Given the description of an element on the screen output the (x, y) to click on. 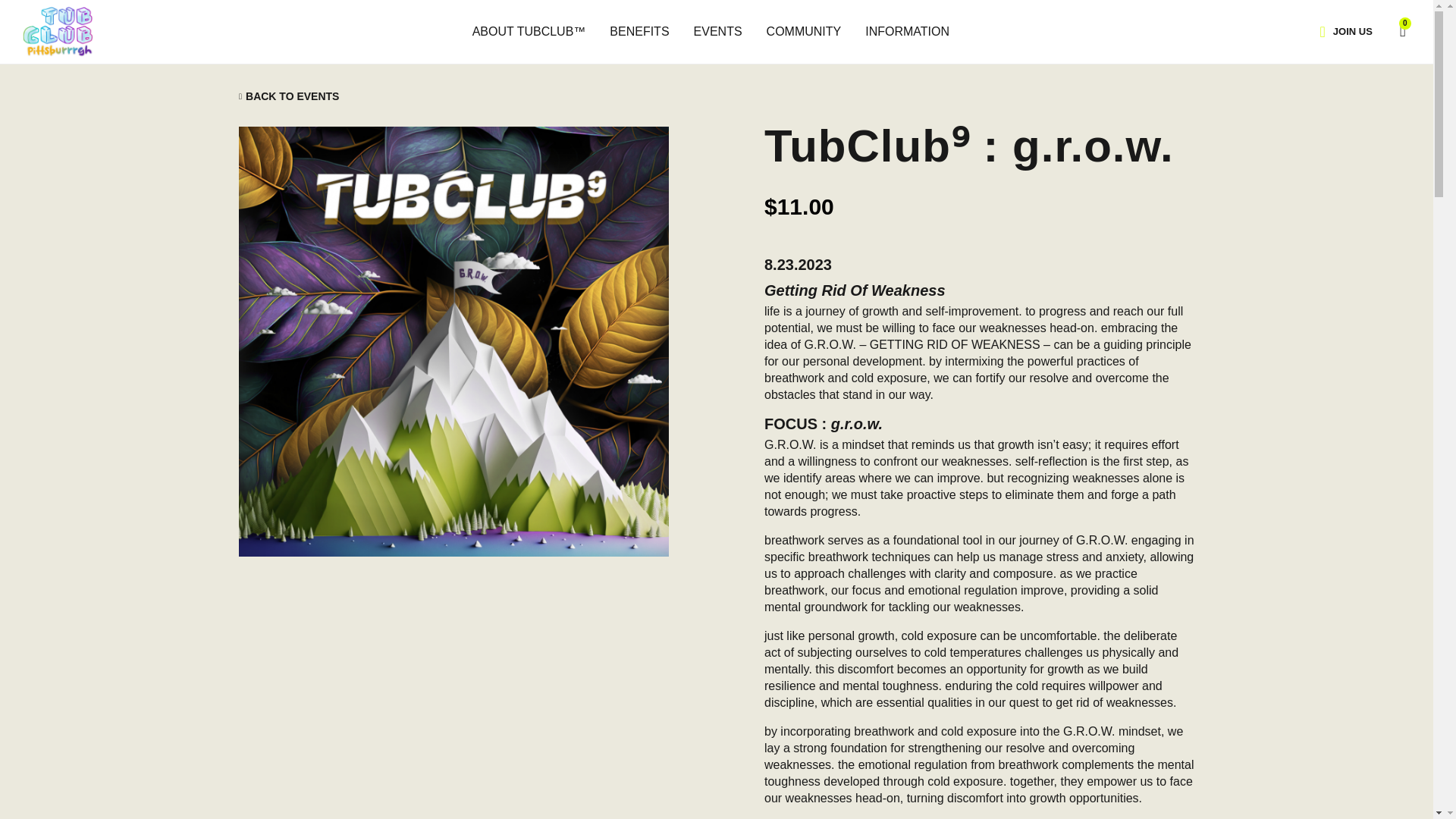
JOIN US (1352, 31)
0 (1396, 30)
